Given the description of an element on the screen output the (x, y) to click on. 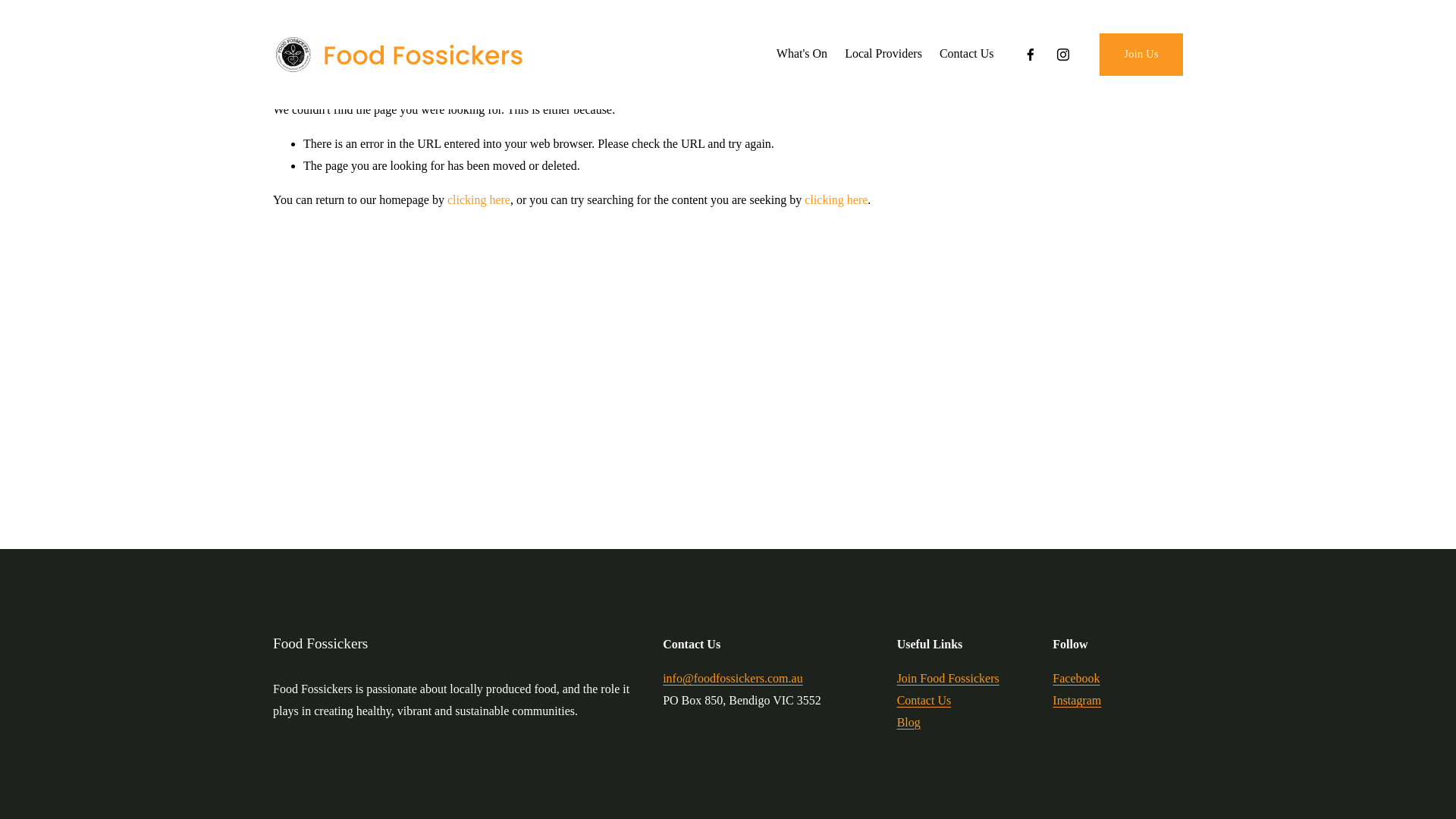
Instagram Element type: text (1076, 701)
Blog Element type: text (908, 723)
What's On Element type: text (801, 54)
Contact Us Element type: text (924, 701)
info@foodfossickers.com.au Element type: text (732, 679)
Facebook Element type: text (1075, 679)
Join Us Element type: text (1141, 54)
clicking here Element type: text (835, 199)
clicking here Element type: text (478, 199)
Contact Us Element type: text (966, 54)
Join Food Fossickers Element type: text (948, 679)
Local Providers Element type: text (883, 54)
